Given the description of an element on the screen output the (x, y) to click on. 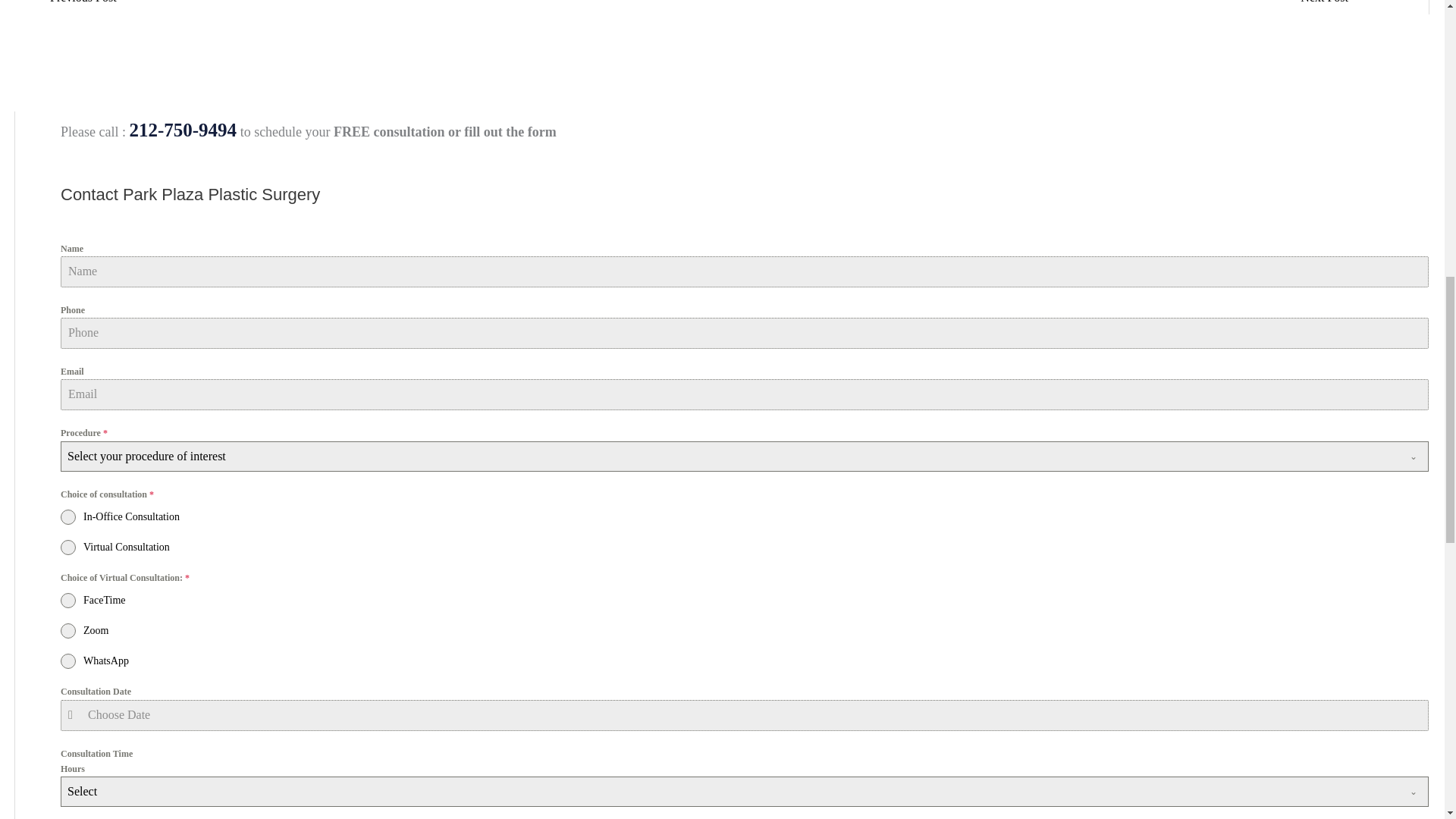
Virtual Consultation (744, 547)
Zoom (744, 630)
Breast Lifting with Augmentation (1331, 6)
In-Office Consultation (744, 516)
Select your procedure of interest (730, 456)
Breast Lifting with Minimal Scarring (75, 6)
